Given the description of an element on the screen output the (x, y) to click on. 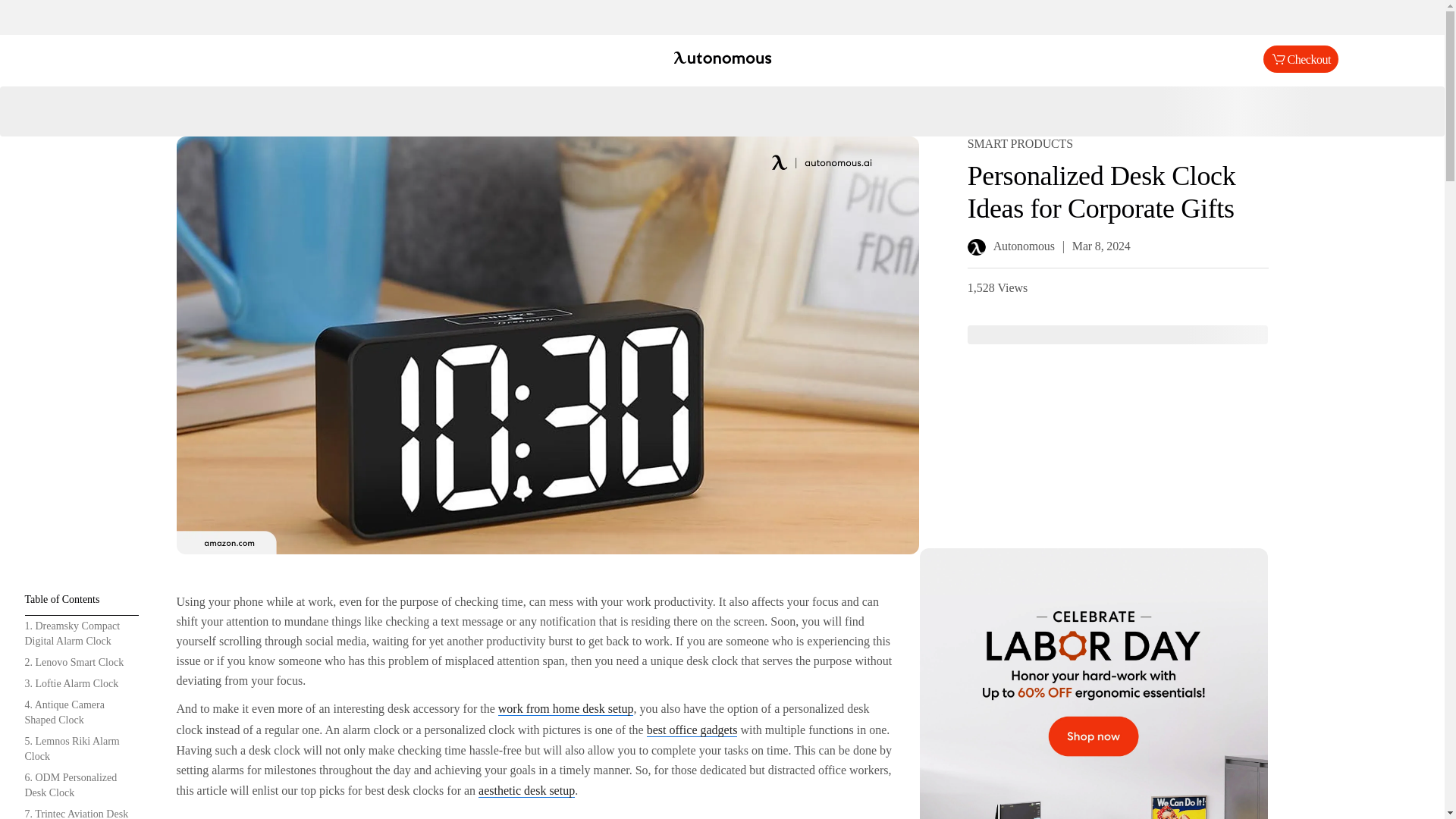
Autonomous (721, 58)
1. Dreamsky Compact Digital Alarm Clock (81, 633)
4. Antique Camera Shaped Clock (81, 712)
aesthetic desk setup (527, 790)
2. Lenovo Smart Clock (81, 662)
3. Loftie Alarm Clock (81, 683)
Click go to homepage (721, 58)
work from home desk setup (565, 708)
6. ODM Personalized Desk Clock (81, 785)
7. Trintec Aviation Desk Top Travel Alarm (81, 811)
